Given the description of an element on the screen output the (x, y) to click on. 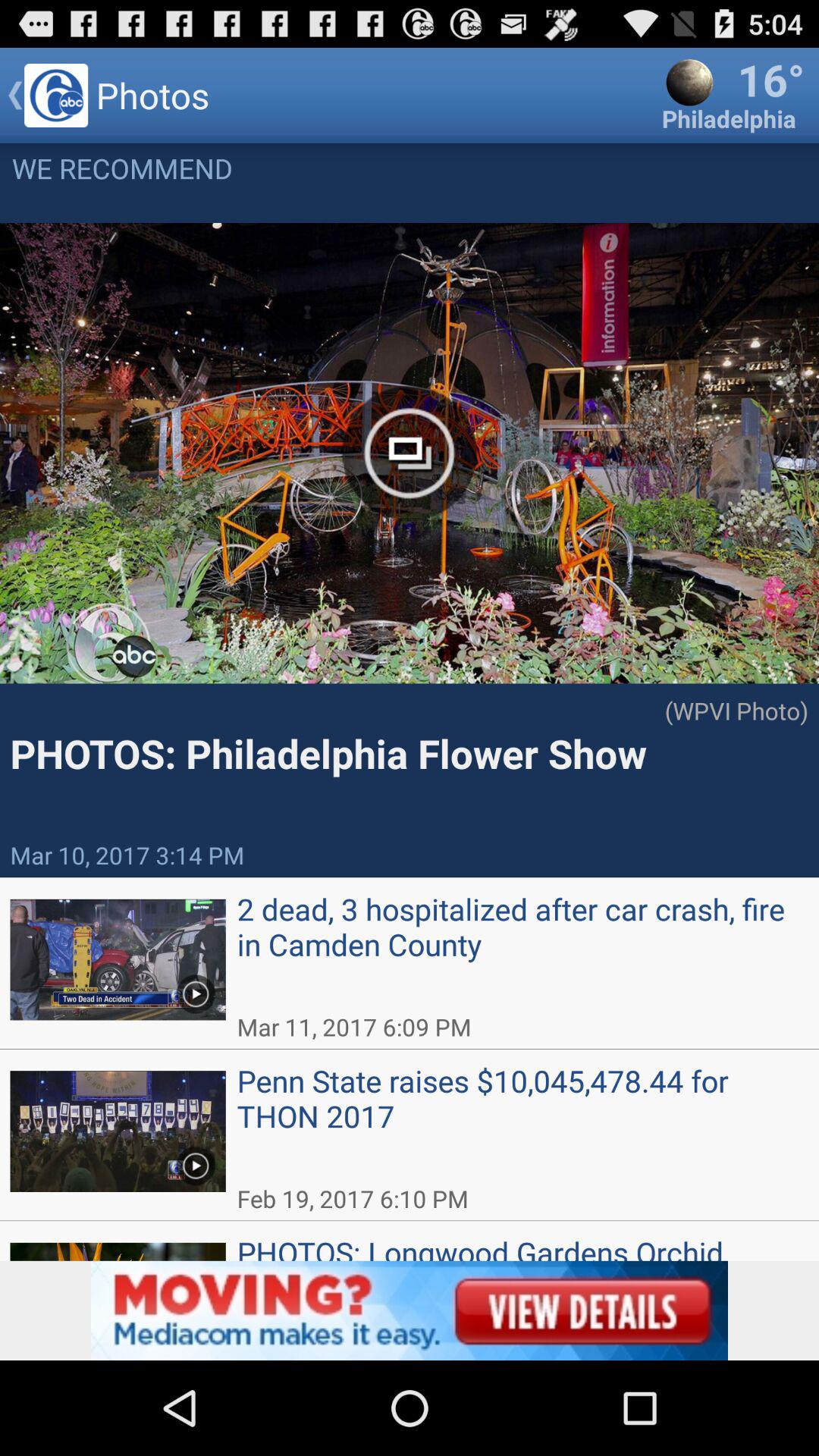
click on the icon in the second row (195, 1160)
